Given the description of an element on the screen output the (x, y) to click on. 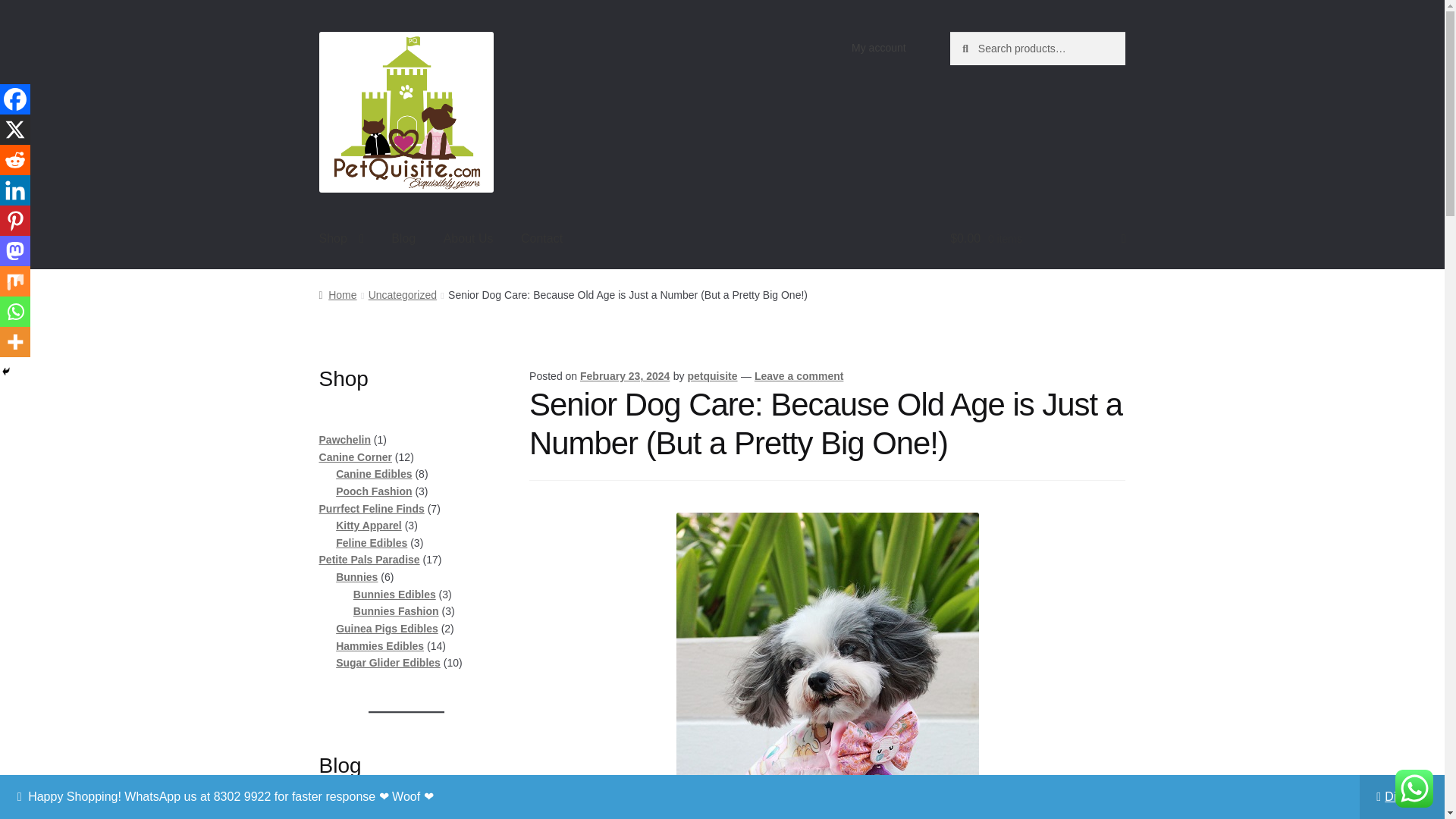
Whatsapp (15, 311)
Reddit (15, 159)
Contact (541, 238)
Shop (341, 238)
View your shopping cart (1037, 238)
X (15, 129)
Linkedin (15, 190)
Home (337, 294)
Pinterest (15, 220)
My account (879, 47)
About Us (467, 238)
Mastodon (15, 250)
Leave a comment (799, 376)
More (15, 341)
